Given the description of an element on the screen output the (x, y) to click on. 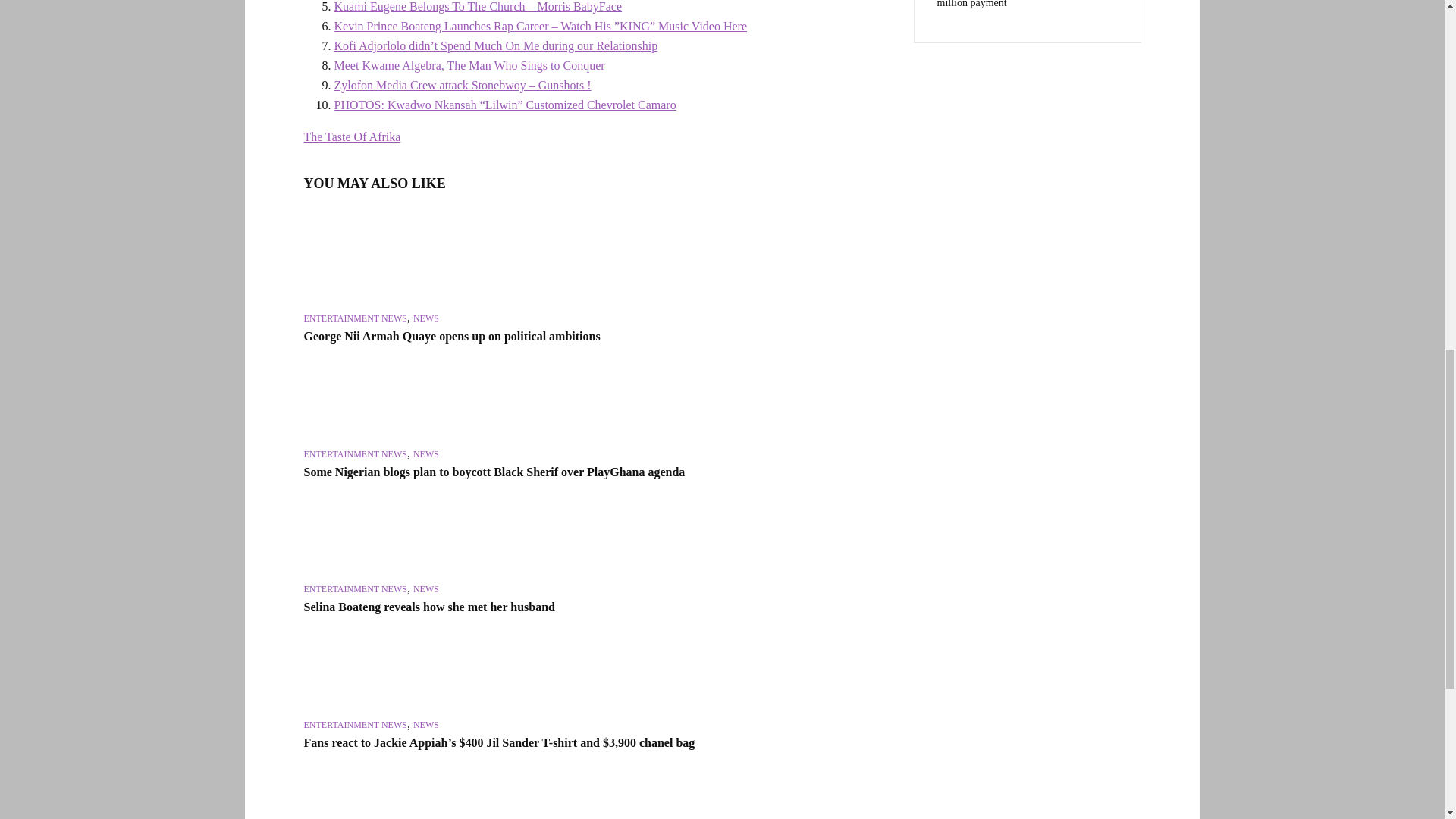
George Nii Armah Quaye opens up on political ambitions (390, 256)
Meet Kwame Algebra, The Man Who Sings to Conquer (468, 65)
Meet Kwame Algebra, The Man Who Sings to Conquer (468, 65)
